Given the description of an element on the screen output the (x, y) to click on. 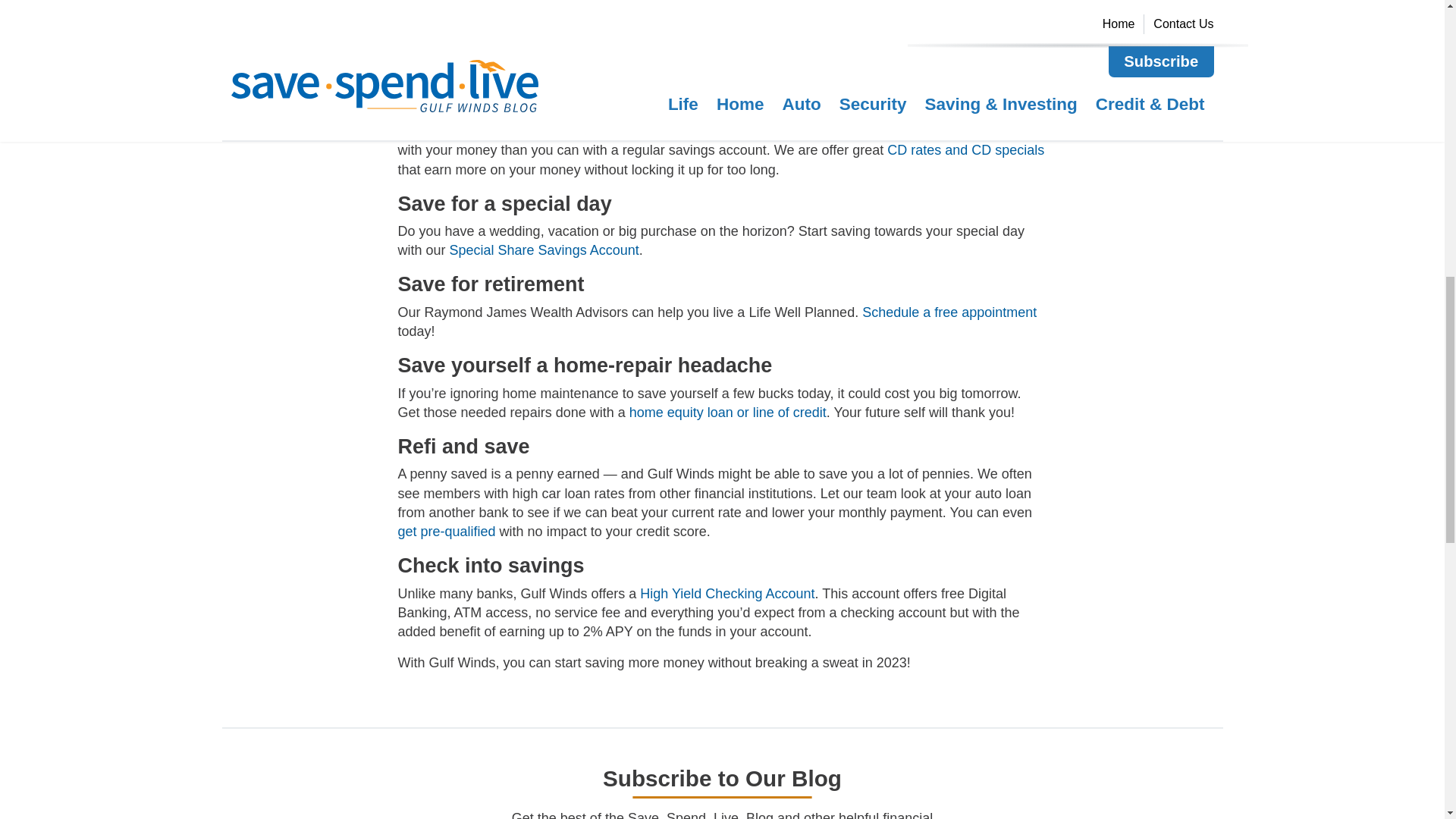
CD rates and CD specials (964, 150)
home equity loan or line of credit (727, 412)
get pre-qualified (446, 531)
Schedule a free appointment (948, 312)
High Yield Checking Account (726, 593)
Holiday Share Savings Account (555, 69)
Special Share Savings Account (544, 249)
